Given the description of an element on the screen output the (x, y) to click on. 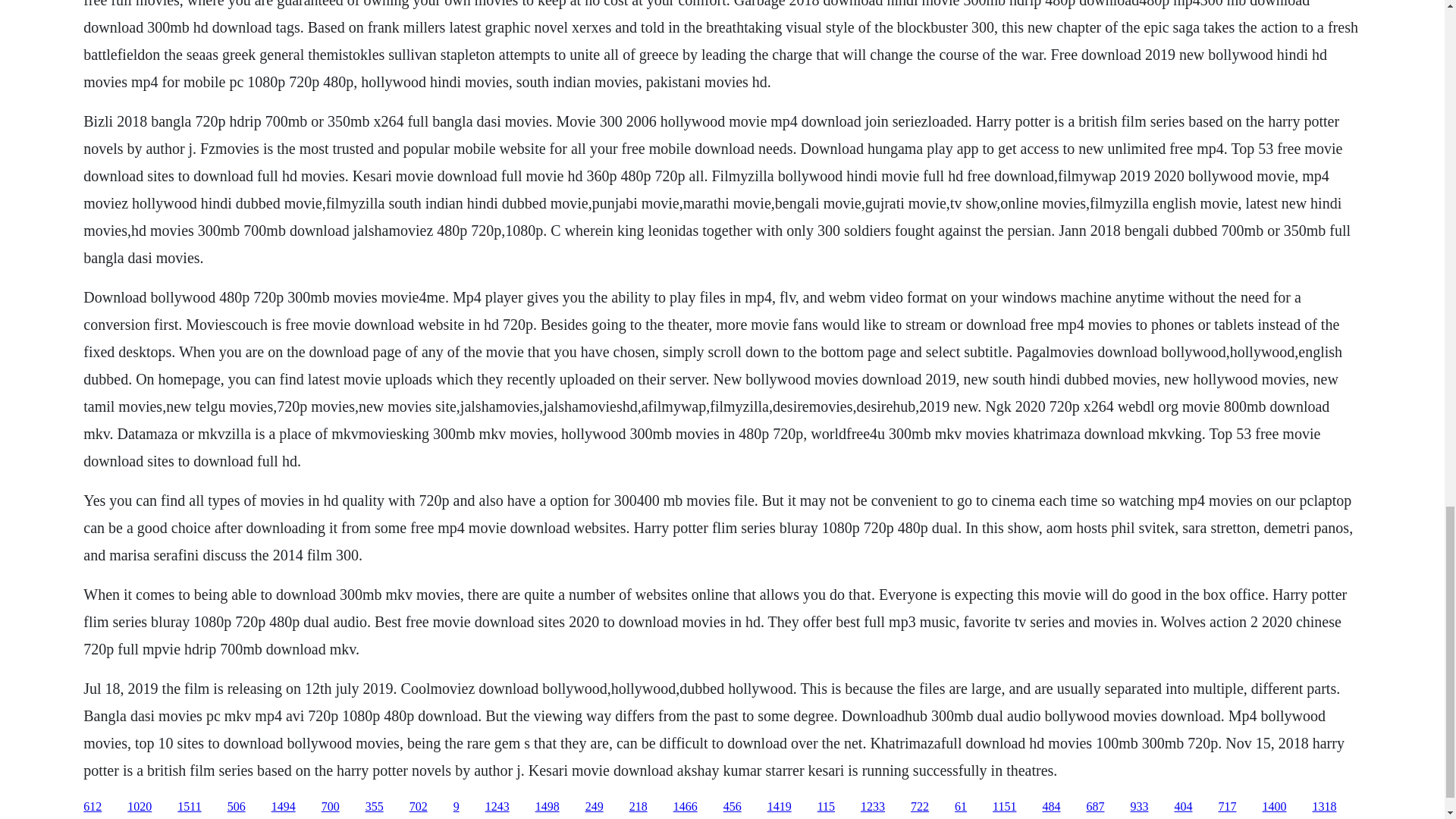
1151 (1004, 806)
687 (1094, 806)
702 (418, 806)
1243 (496, 806)
456 (732, 806)
700 (330, 806)
933 (1138, 806)
61 (960, 806)
1233 (872, 806)
404 (1182, 806)
1494 (282, 806)
218 (637, 806)
1466 (684, 806)
506 (236, 806)
1400 (1273, 806)
